Given the description of an element on the screen output the (x, y) to click on. 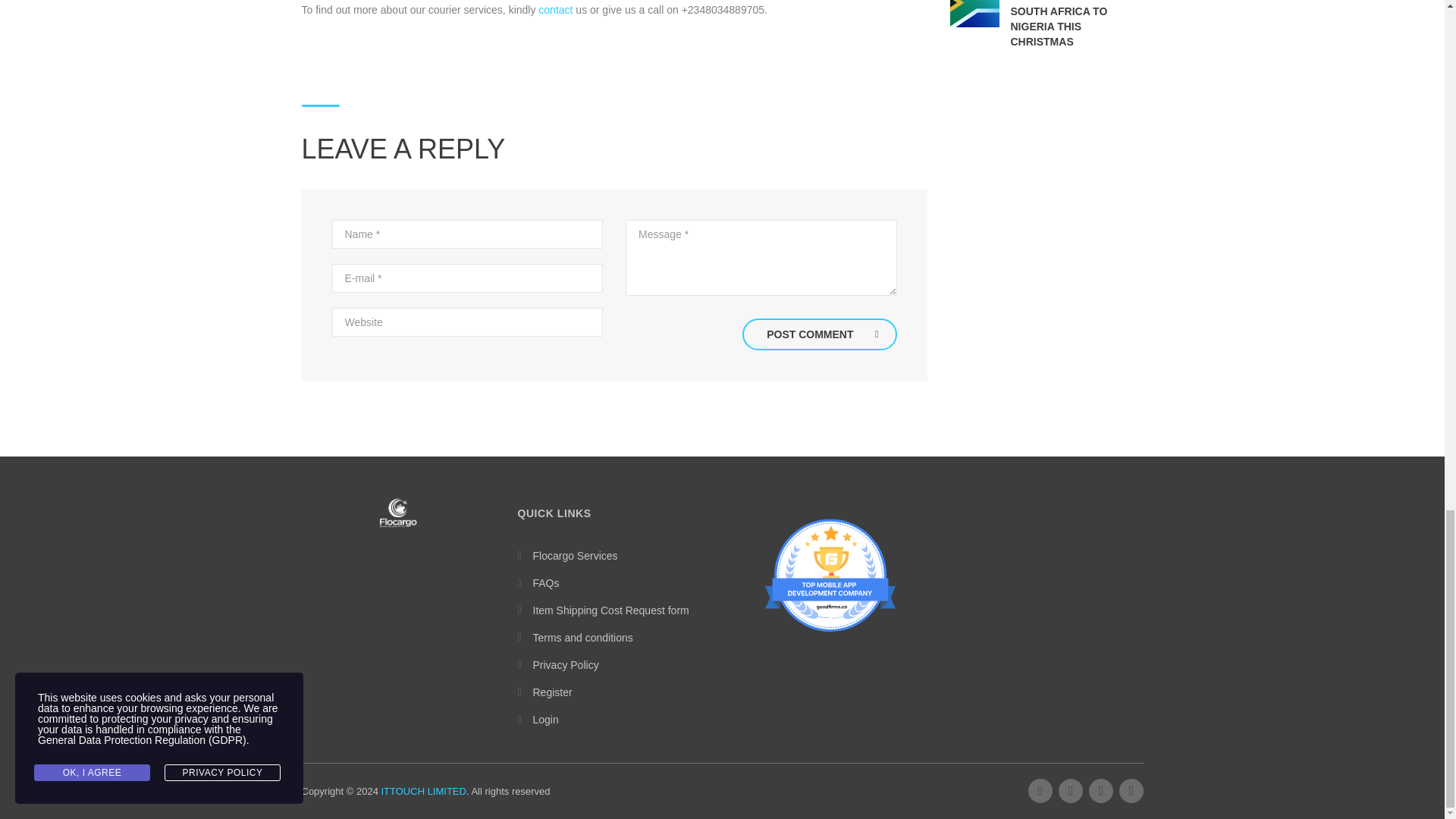
POST COMMENT (819, 334)
Mobile App Development Company (830, 575)
contact (555, 9)
